Given the description of an element on the screen output the (x, y) to click on. 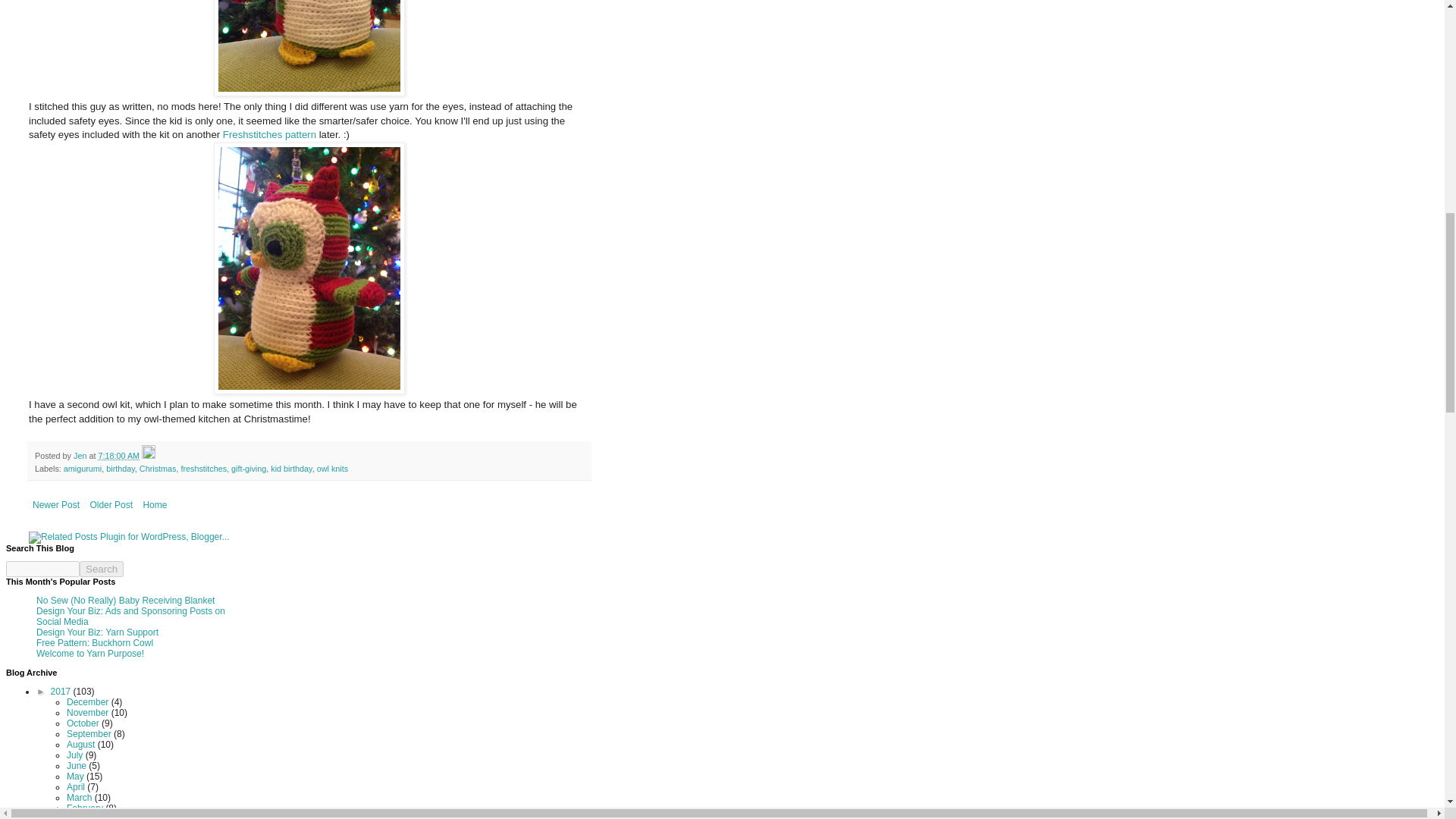
Edit Post (148, 455)
Design Your Biz: Ads and Sponsoring Posts on Social Media (130, 616)
Search (101, 569)
Older Post (110, 505)
owl knits (332, 468)
kid birthday (290, 468)
Freshstitches pattern (268, 134)
Design Your Biz: Yarn Support (97, 632)
November (89, 712)
September (89, 733)
October (83, 723)
Welcome to Yarn Purpose! (90, 653)
Search (101, 569)
July (75, 755)
freshstitches (203, 468)
